Given the description of an element on the screen output the (x, y) to click on. 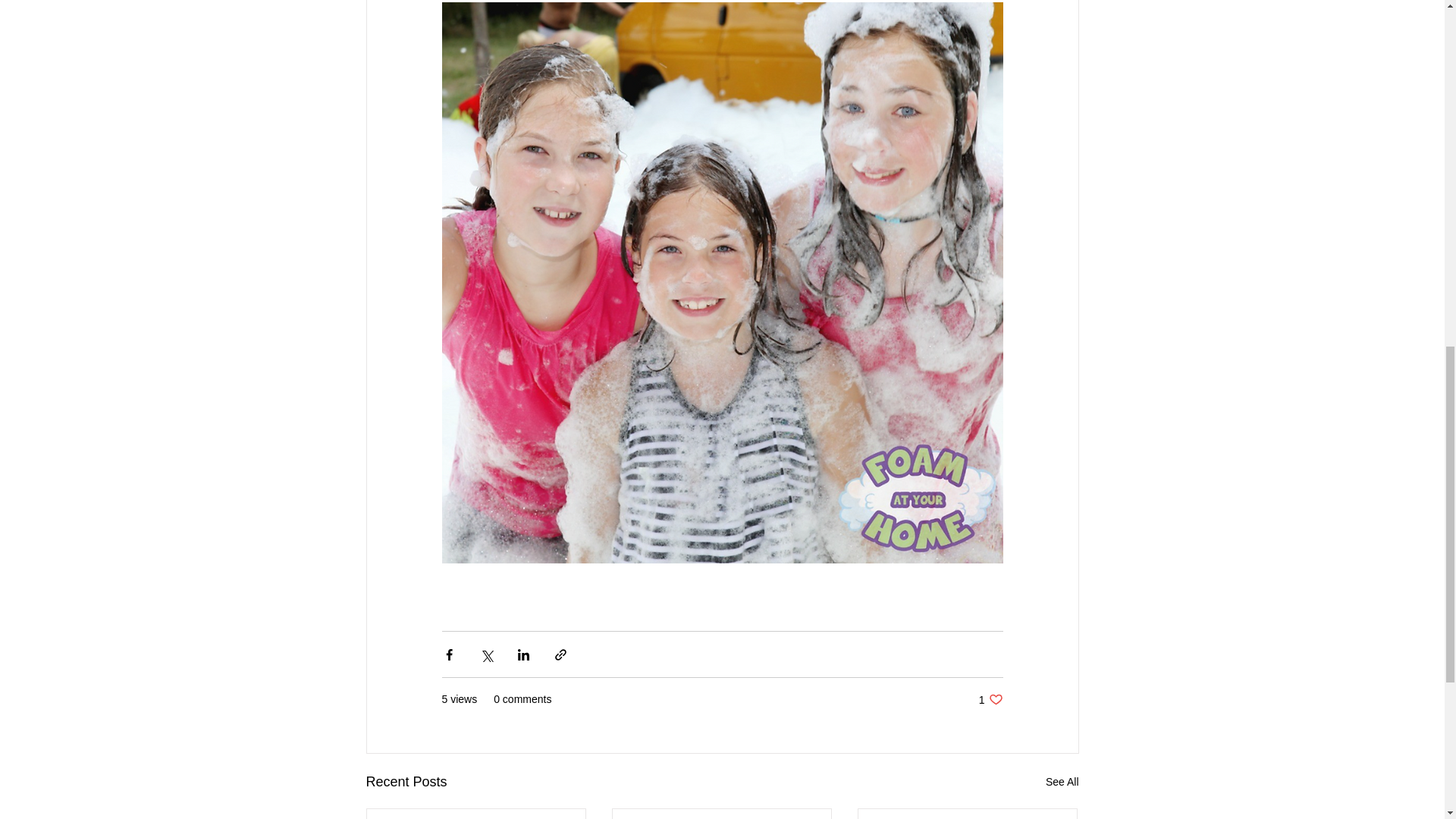
See All (990, 699)
